Given the description of an element on the screen output the (x, y) to click on. 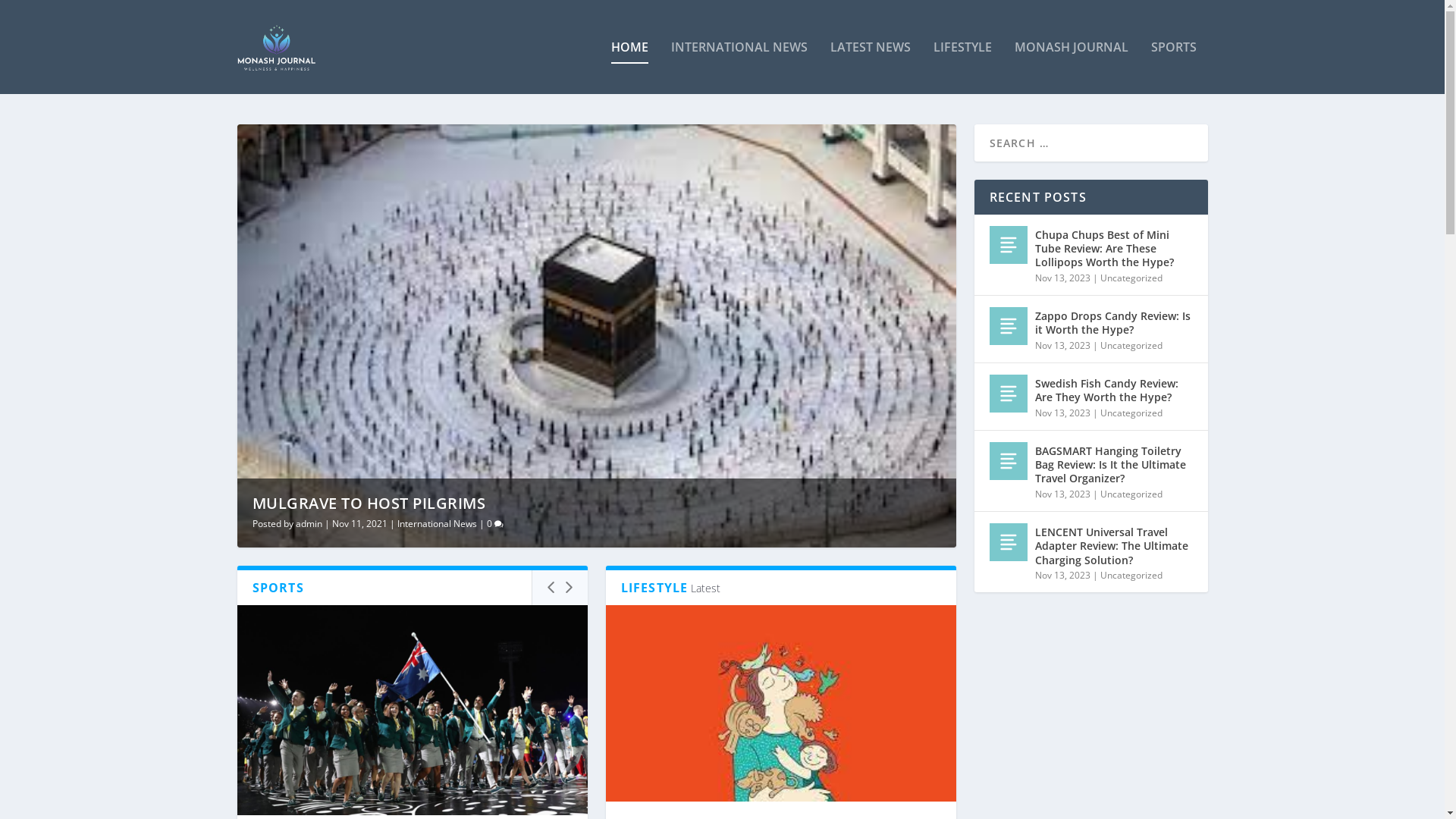
Swedish Fish Candy Review: Are They Worth the Hype? Element type: text (1113, 390)
Zappo Drops Candy Review: Is it Worth the Hype? Element type: text (1113, 322)
International News Element type: text (436, 523)
Search Element type: text (29, 14)
Zappo Drops Candy Review: Is it Worth the Hype? Element type: hover (1007, 326)
LATEST NEWS Element type: text (869, 67)
HOME Element type: text (629, 67)
Next Tab Element type: hover (568, 587)
INTERNATIONAL NEWS Element type: text (738, 67)
MONASH JOURNAL Element type: text (1071, 67)
Uncategorized Element type: text (1130, 344)
Uncategorized Element type: text (1130, 574)
New housemates pleased to have flown the nest at last Element type: hover (780, 703)
MULGRAVE TO HOST PILGRIMS Element type: text (368, 502)
LIFESTYLE Element type: text (961, 67)
Uncategorized Element type: text (1130, 412)
Uncategorized Element type: text (1130, 277)
Previous Tab Element type: hover (550, 587)
Top 10 Most Famous Games in Australia Element type: hover (411, 710)
0 Element type: text (494, 523)
Swedish Fish Candy Review: Are They Worth the Hype? Element type: hover (1007, 393)
comment count Element type: hover (498, 524)
SPORTS Element type: text (1173, 67)
Uncategorized Element type: text (1130, 493)
admin Element type: text (308, 523)
